Given the description of an element on the screen output the (x, y) to click on. 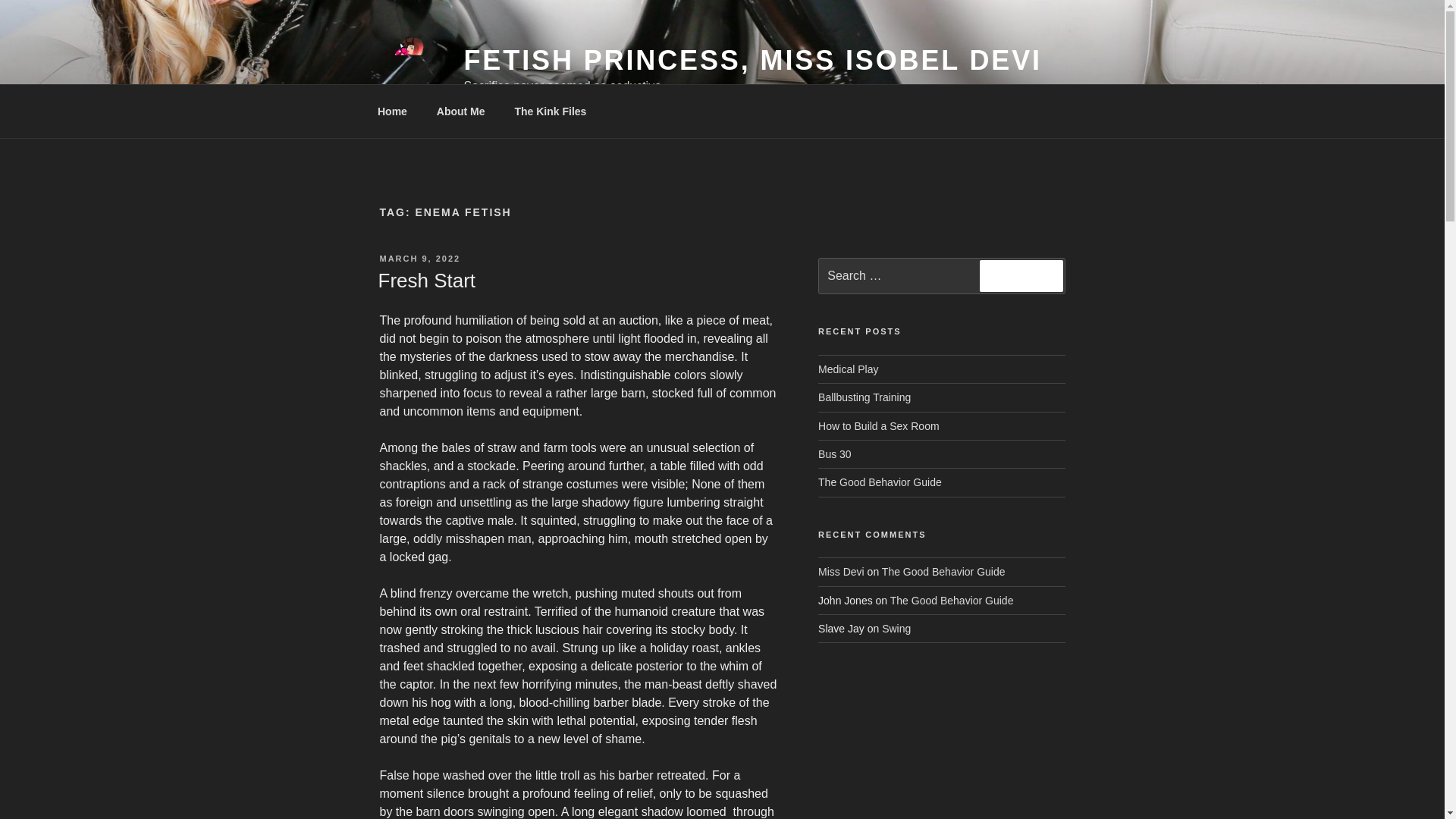
Swing (896, 628)
FETISH PRINCESS, MISS ISOBEL DEVI (753, 60)
About Me (460, 110)
Miss Devi (841, 571)
The Good Behavior Guide (944, 571)
Bus 30 (834, 453)
MARCH 9, 2022 (419, 257)
How to Build a Sex Room (878, 426)
The Good Behavior Guide (951, 600)
Home (392, 110)
